Given the description of an element on the screen output the (x, y) to click on. 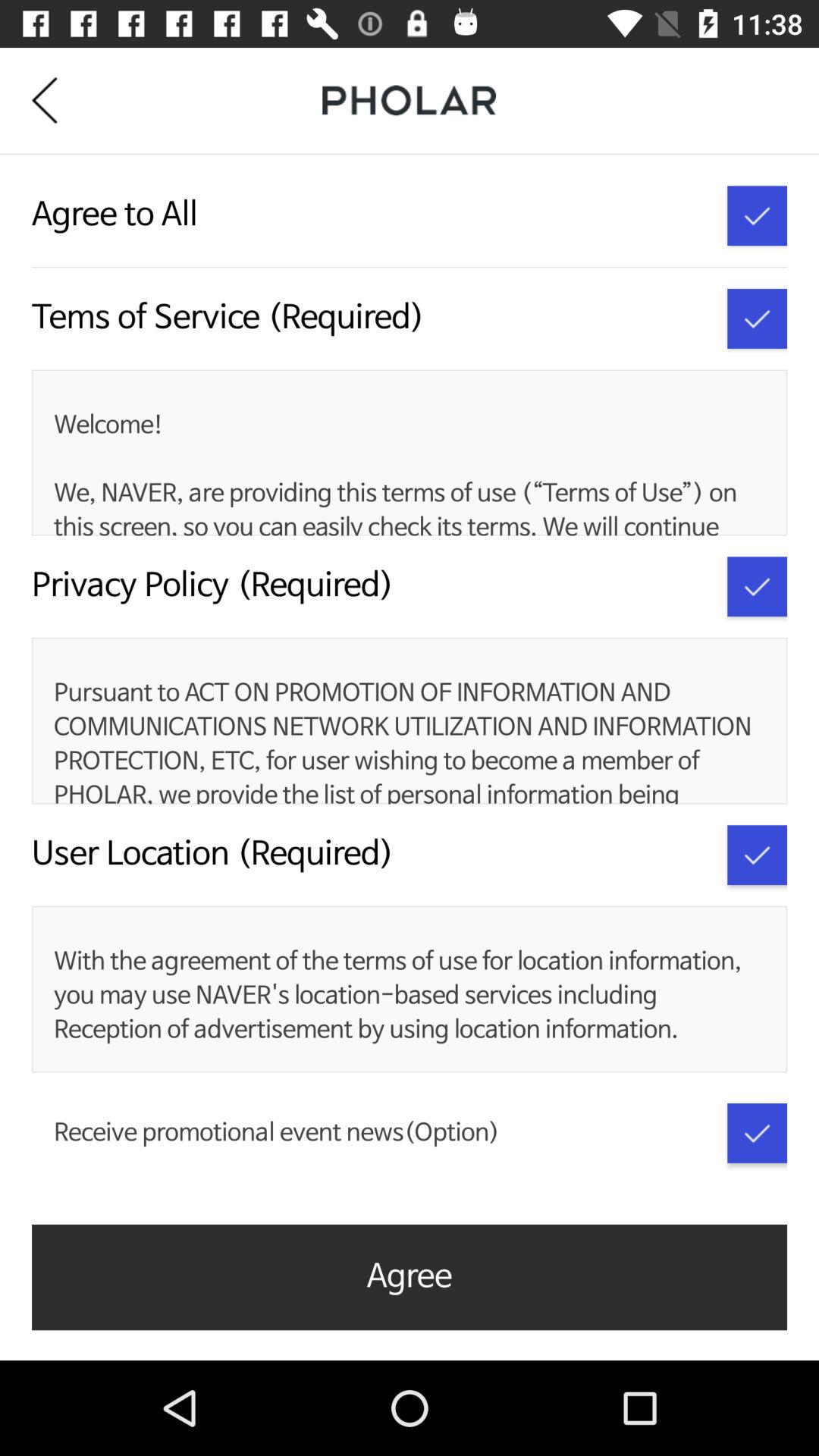
launch welcome we naver item (406, 473)
